Given the description of an element on the screen output the (x, y) to click on. 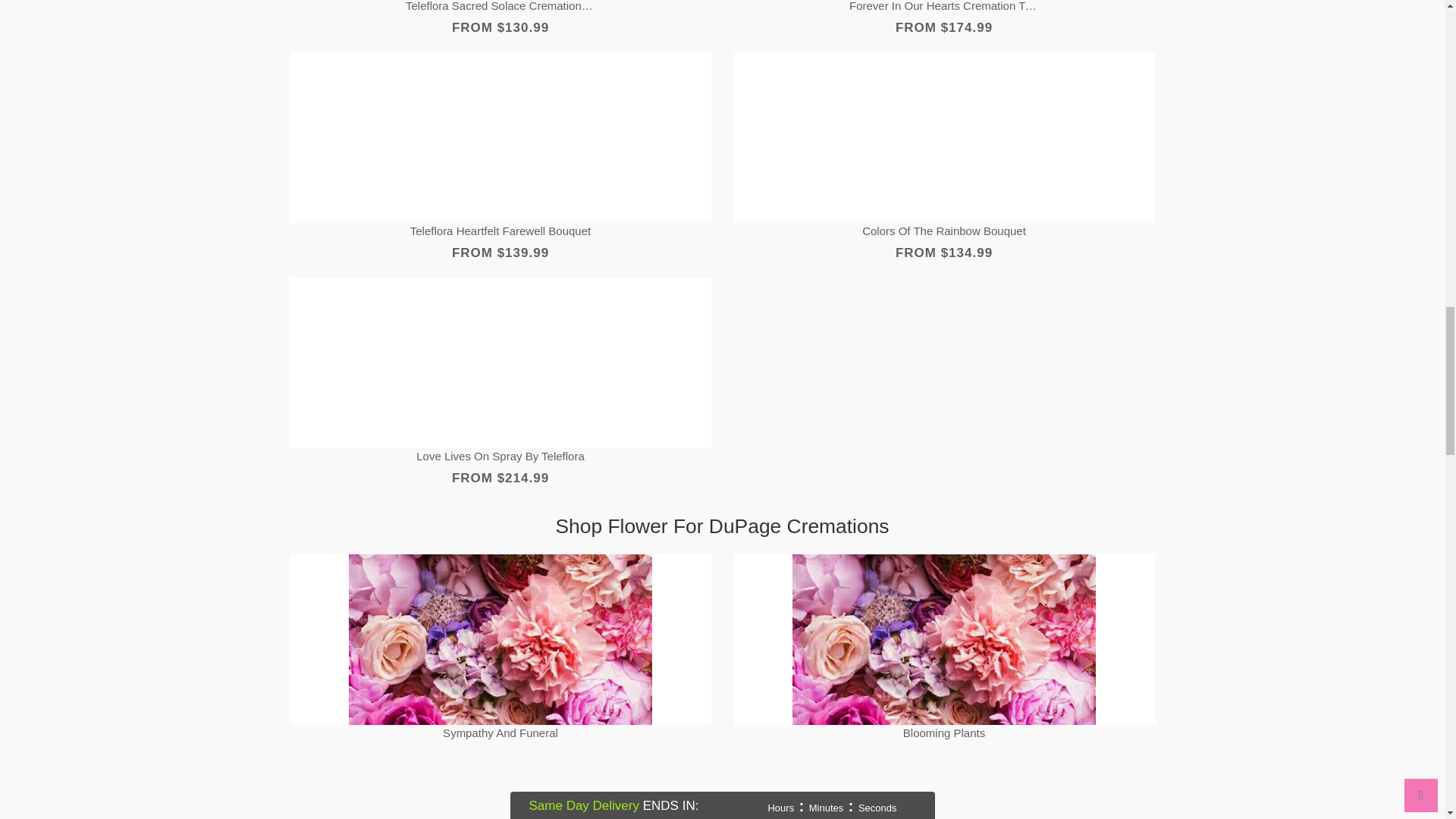
Forever In Our Hearts Cremation Tribute (943, 7)
Colors of the Rainbow Bouquet (943, 231)
Teleflora Sacred Solace Cremation Tribute (500, 7)
Teleflora Heartfelt Farewell Bouquet (500, 231)
Love Lives On Spray by Teleflora (500, 456)
